Given the description of an element on the screen output the (x, y) to click on. 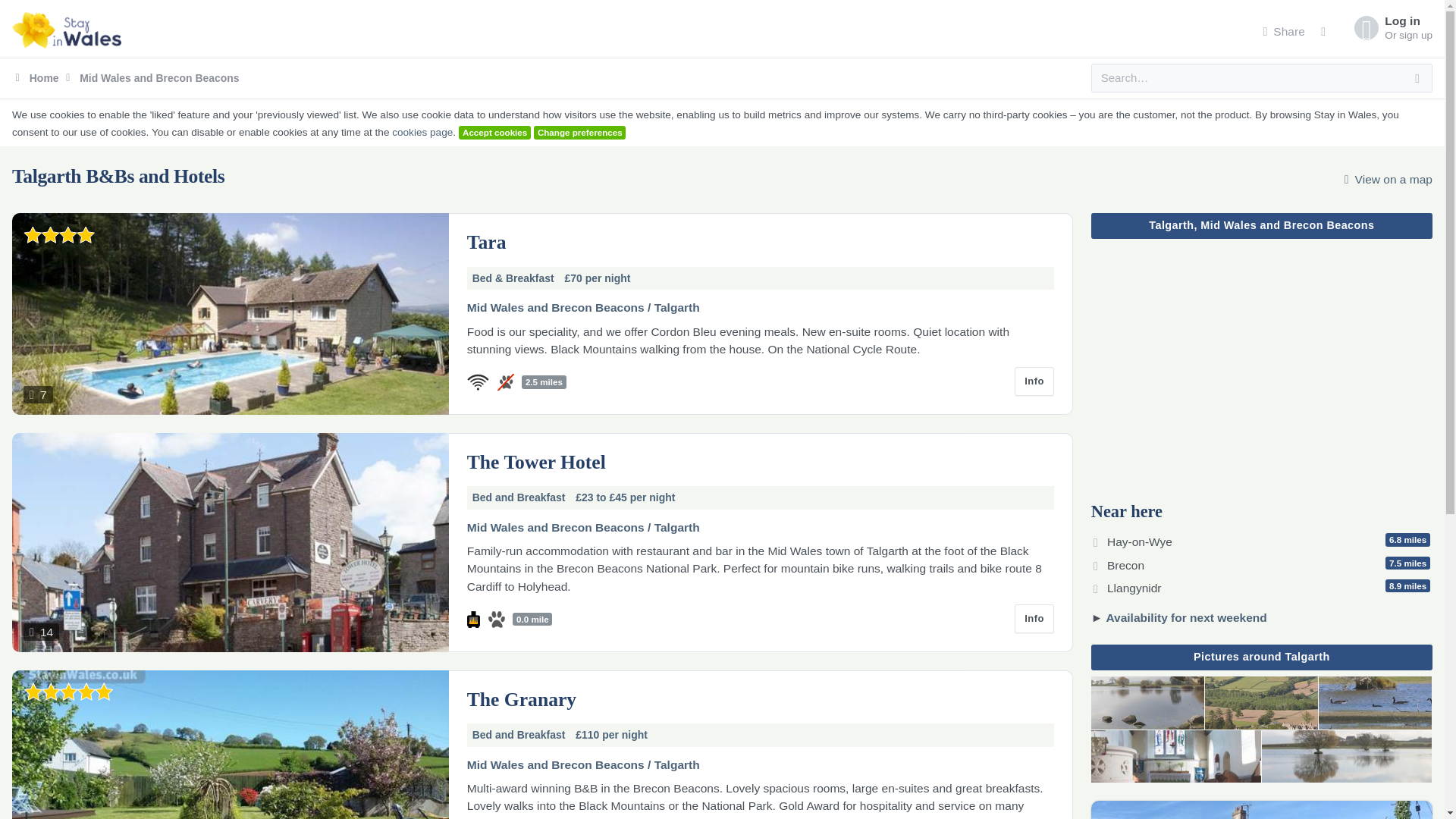
7 (229, 313)
14 (1261, 585)
Accept cookies (1391, 27)
Info (229, 542)
View (494, 132)
Info (1033, 380)
Availability for next weekend (1147, 702)
Mid Wales and Brecon Beacons (1033, 618)
Share (1185, 617)
View on a map (151, 78)
View (1283, 31)
Home (1387, 179)
View (1176, 756)
